Given the description of an element on the screen output the (x, y) to click on. 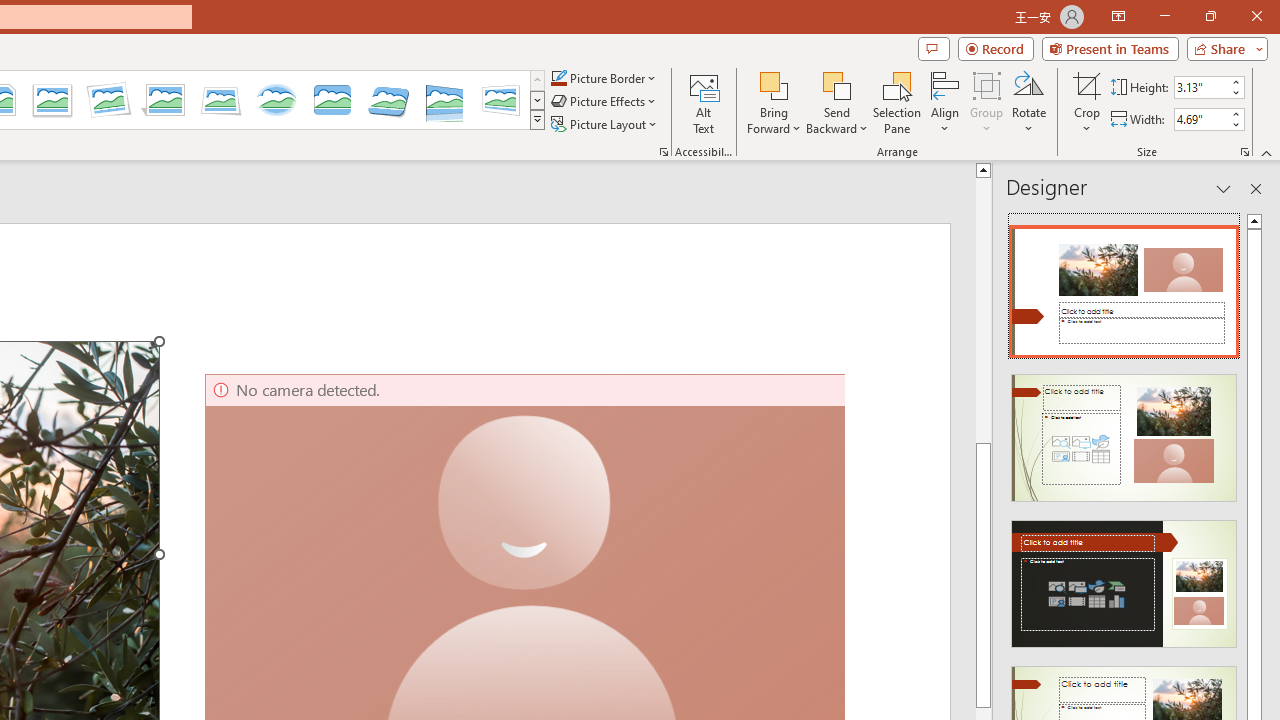
Bevel Perspective Left, White (500, 100)
Rotated, White (108, 100)
Rotate (1028, 102)
Bring Forward (773, 102)
